Given the description of an element on the screen output the (x, y) to click on. 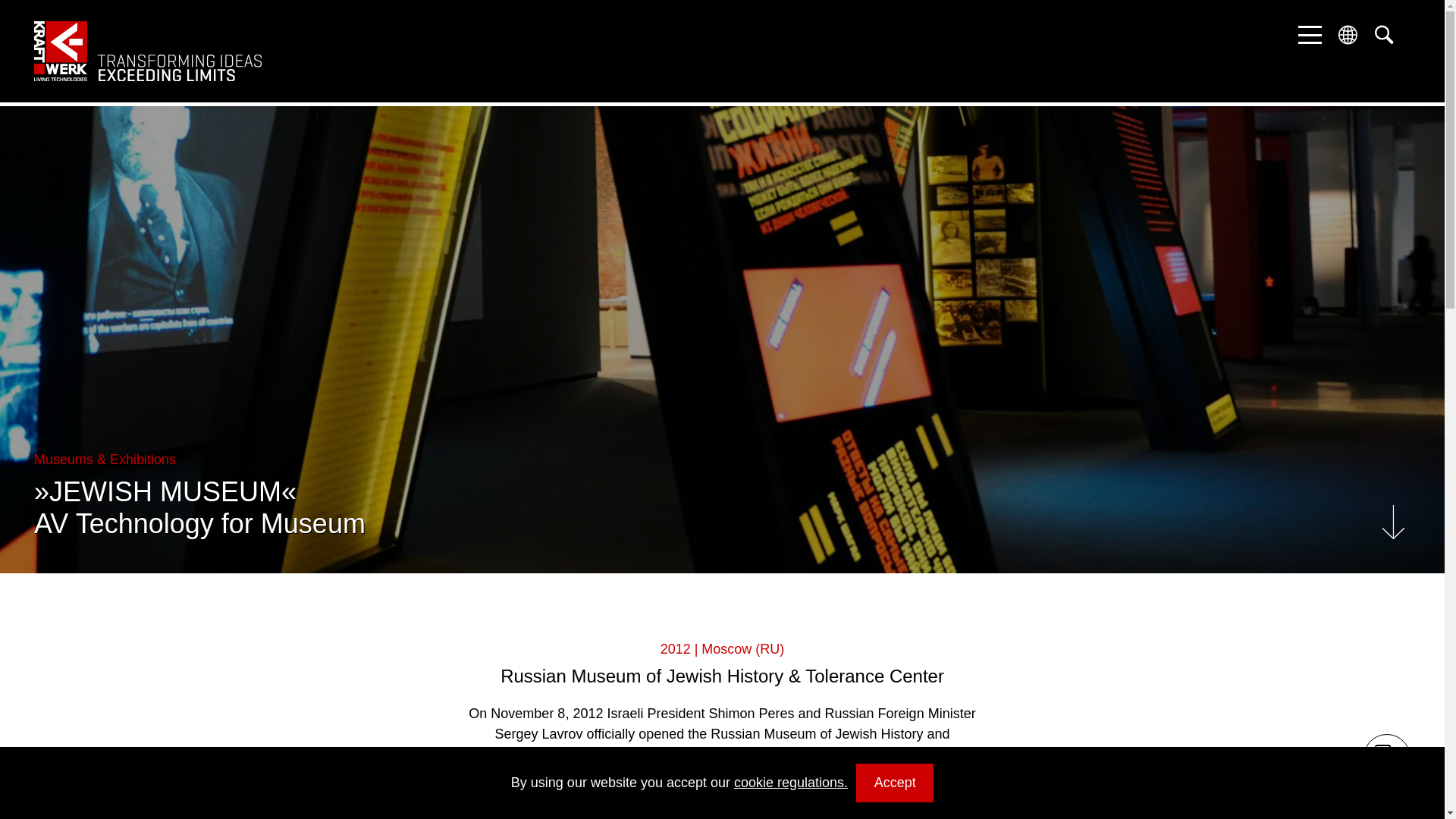
Scroll down (1392, 521)
kraftwerk.at (147, 51)
Scroll down (1392, 521)
